Given the description of an element on the screen output the (x, y) to click on. 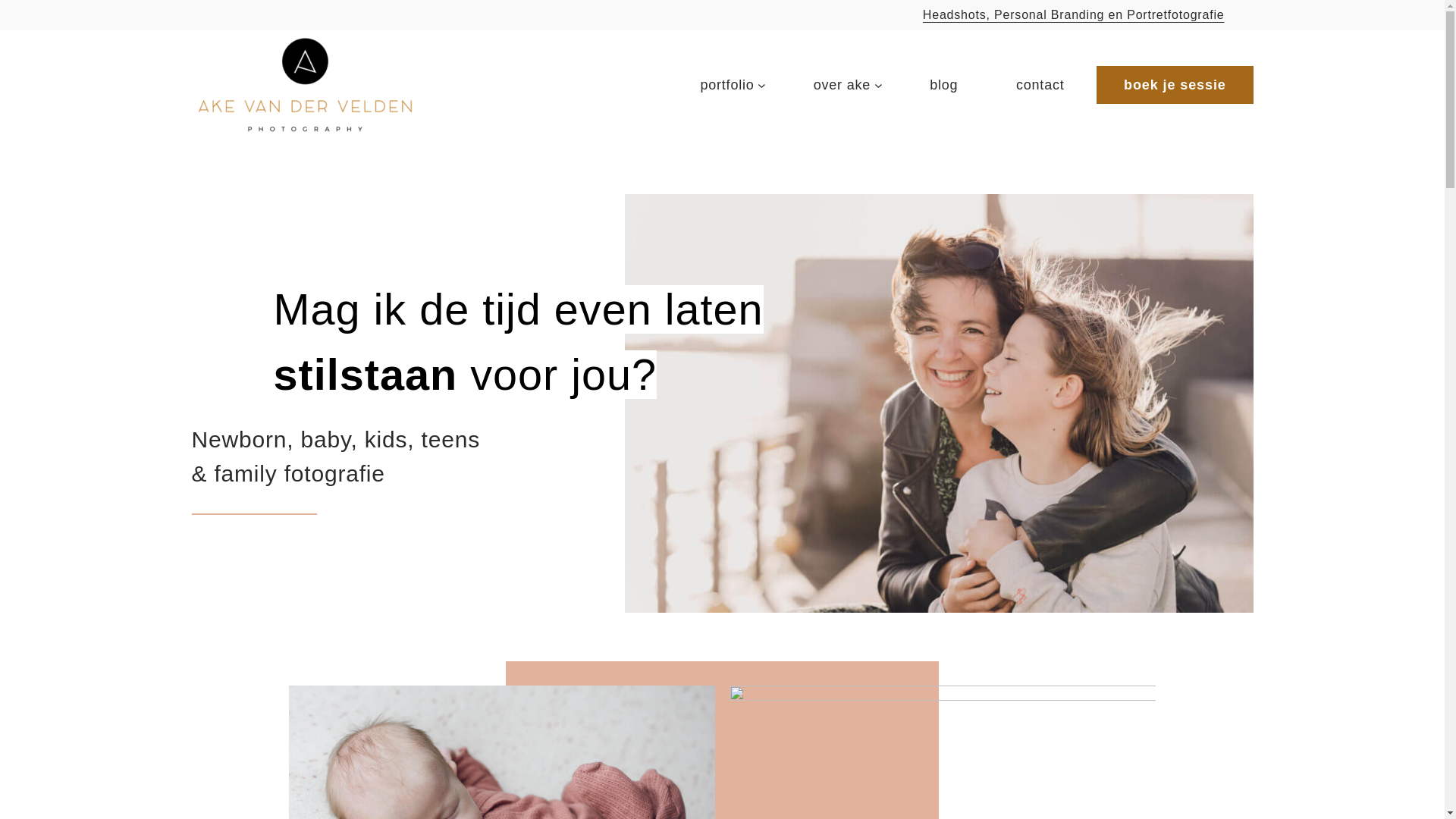
Headshots, Personal Branding en Portretfotografie Element type: text (1073, 14)
boek je sessie Element type: text (1174, 85)
contact Element type: text (1039, 84)
over ake Element type: text (828, 84)
portfolio Element type: text (714, 84)
blog Element type: text (943, 84)
